Given the description of an element on the screen output the (x, y) to click on. 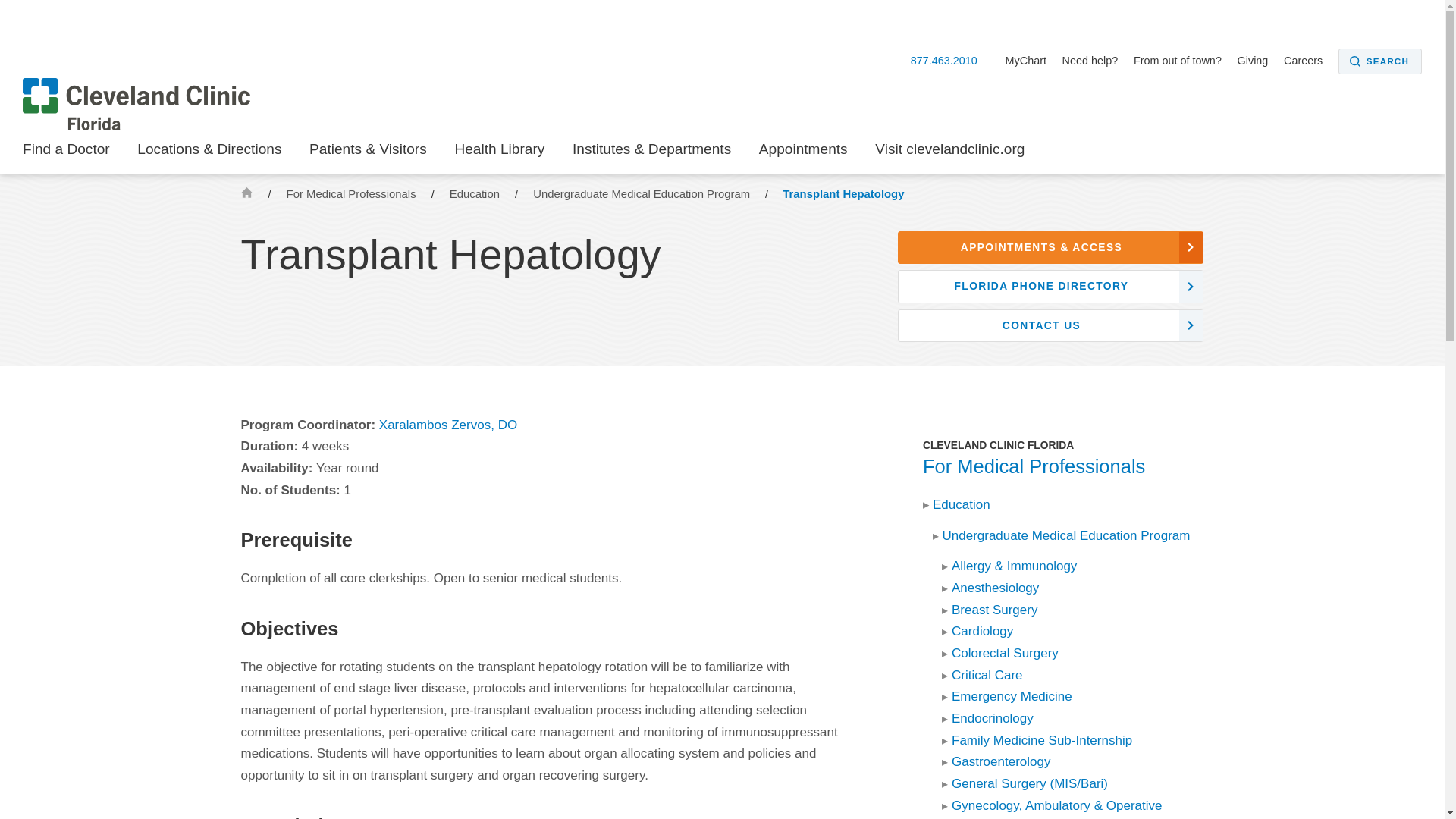
For Medical Professionals (352, 193)
From out of town? (1183, 60)
877.463.2010 (951, 60)
Careers (1309, 60)
Education (475, 193)
MyChart (1032, 60)
Visit clevelandclinic.org (950, 153)
Appointments (802, 153)
Home (246, 192)
Find a Doctor (66, 153)
Need help? (1096, 60)
SEARCH (1380, 61)
Giving (1259, 60)
Health Library (499, 153)
